Given the description of an element on the screen output the (x, y) to click on. 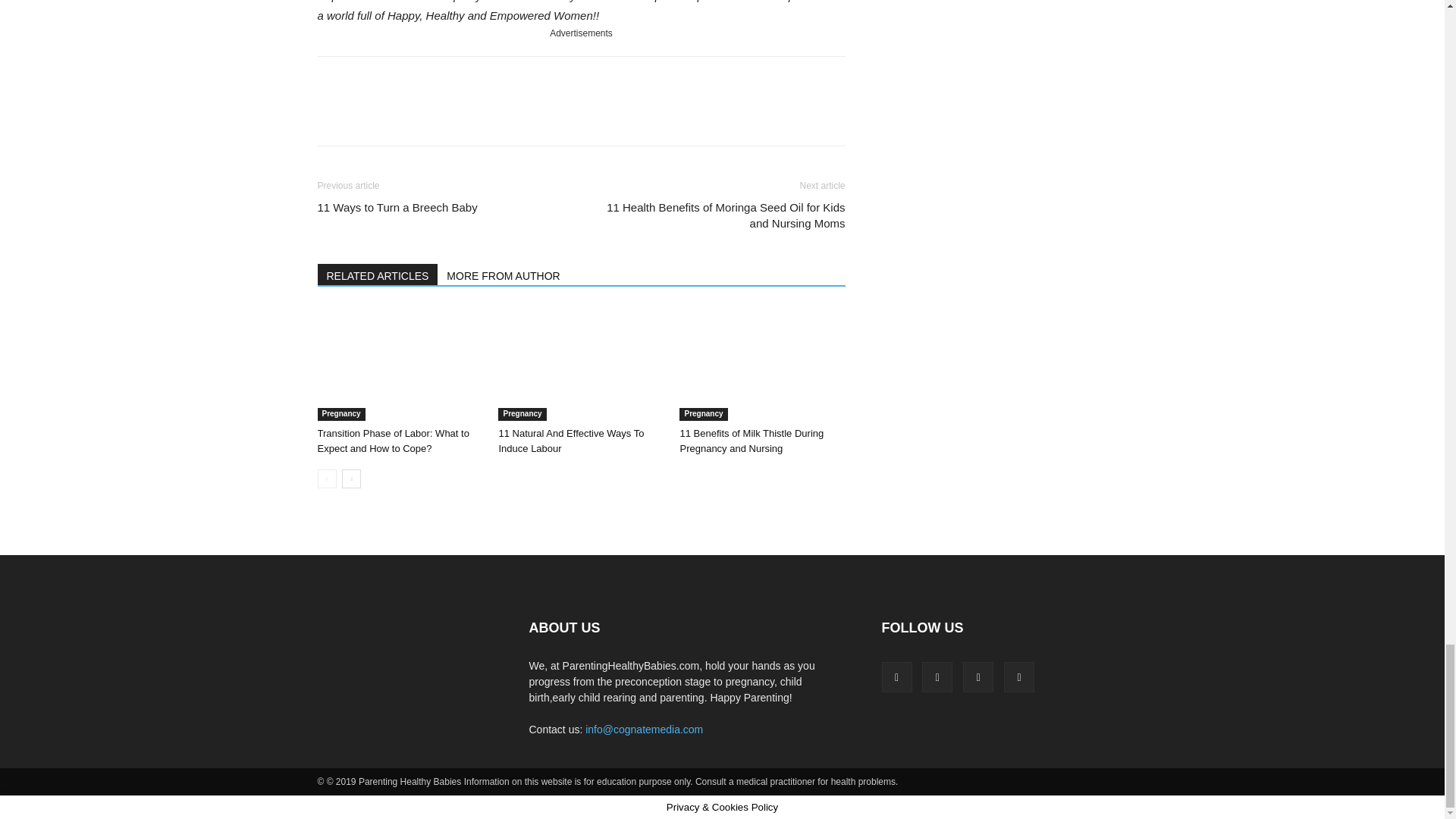
bottomFacebookLike (430, 80)
